Given the description of an element on the screen output the (x, y) to click on. 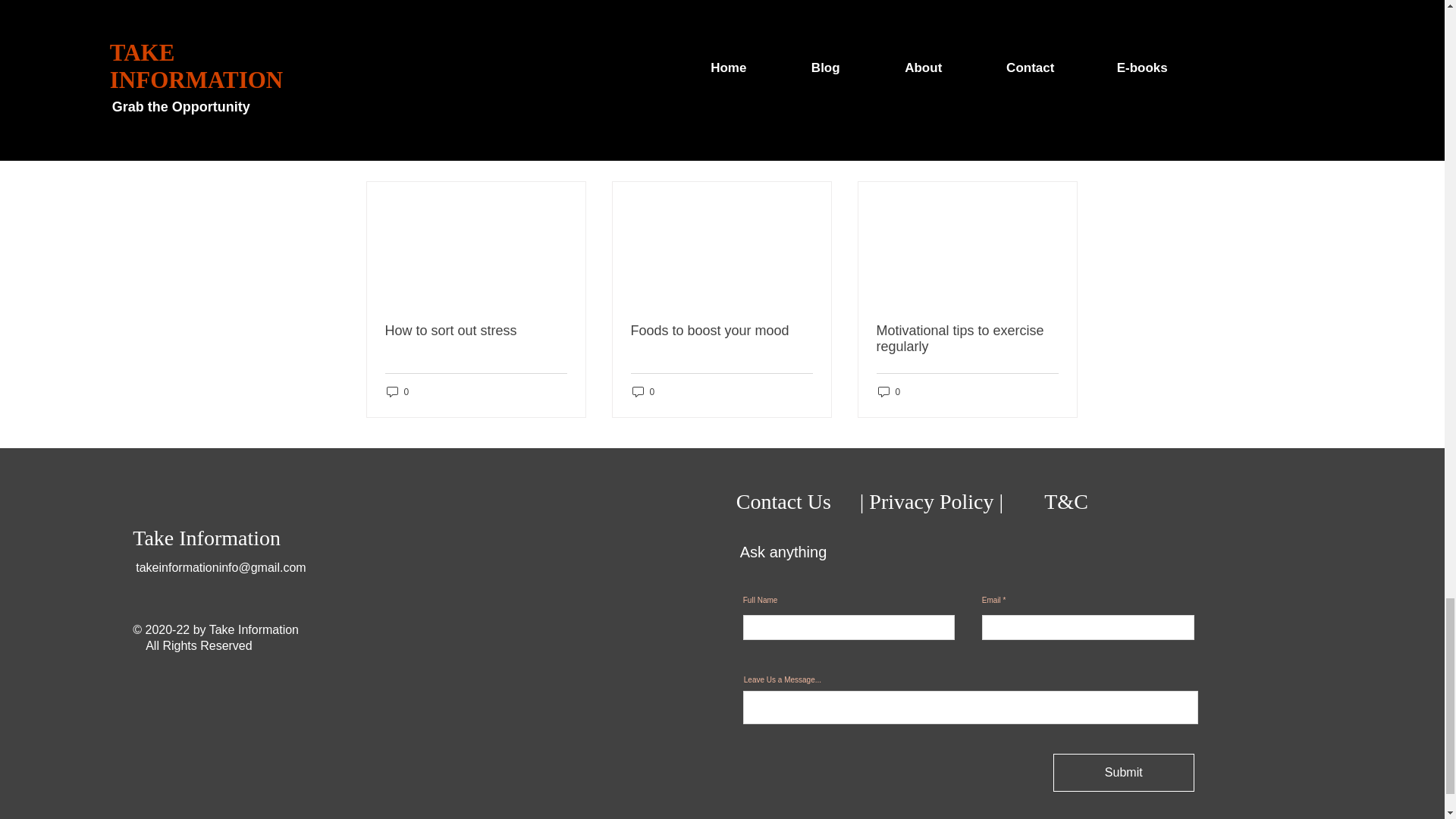
Submit (1122, 772)
0 (889, 391)
0 (643, 391)
Foods to boost your mood (721, 330)
0 (397, 391)
See All (1061, 155)
How to sort out stress (476, 330)
Motivational tips to exercise regularly (967, 338)
